Given the description of an element on the screen output the (x, y) to click on. 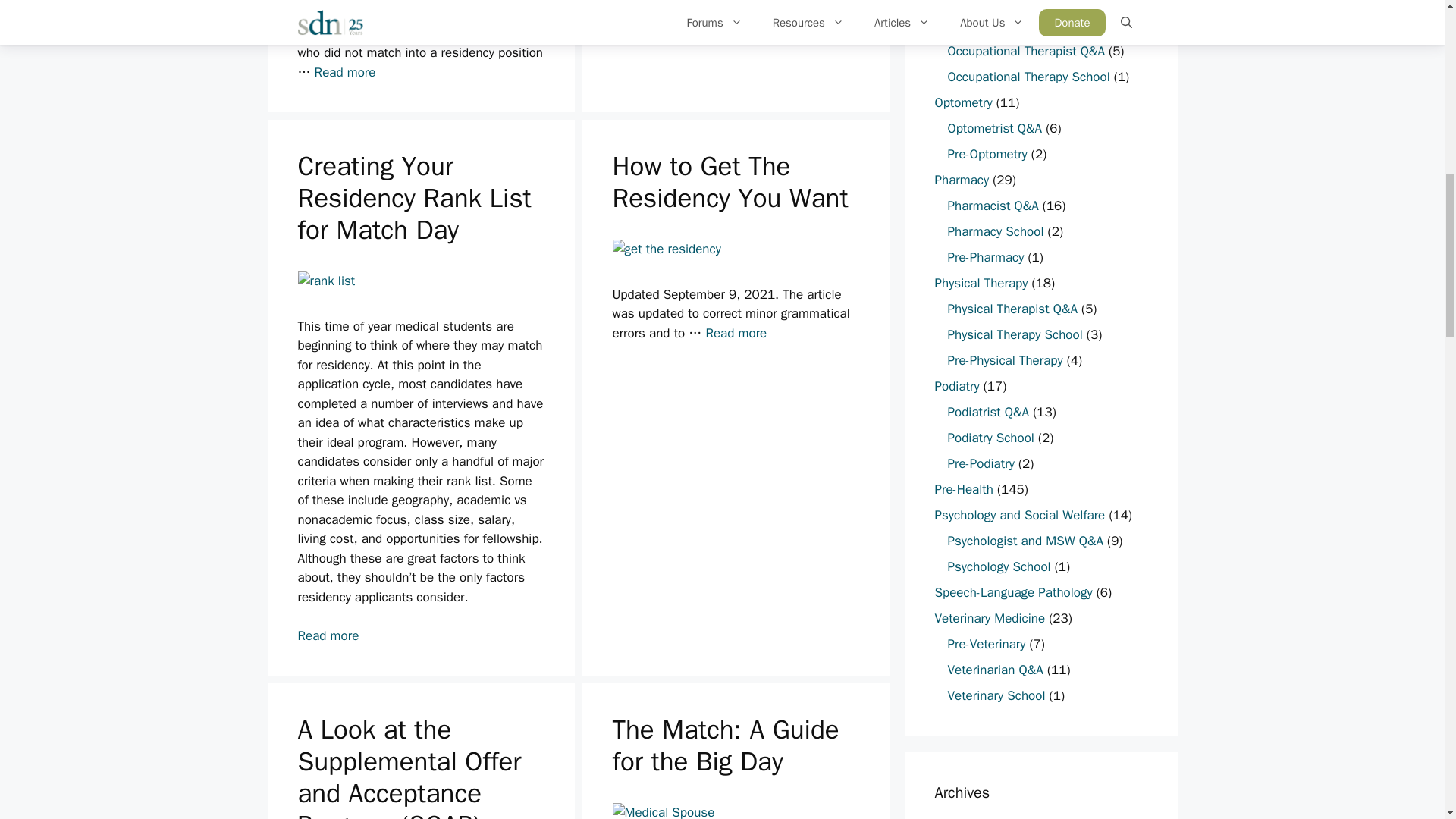
Creating Your Residency Rank List for Match Day (327, 635)
How to Get The Residency You Want (735, 333)
